Given the description of an element on the screen output the (x, y) to click on. 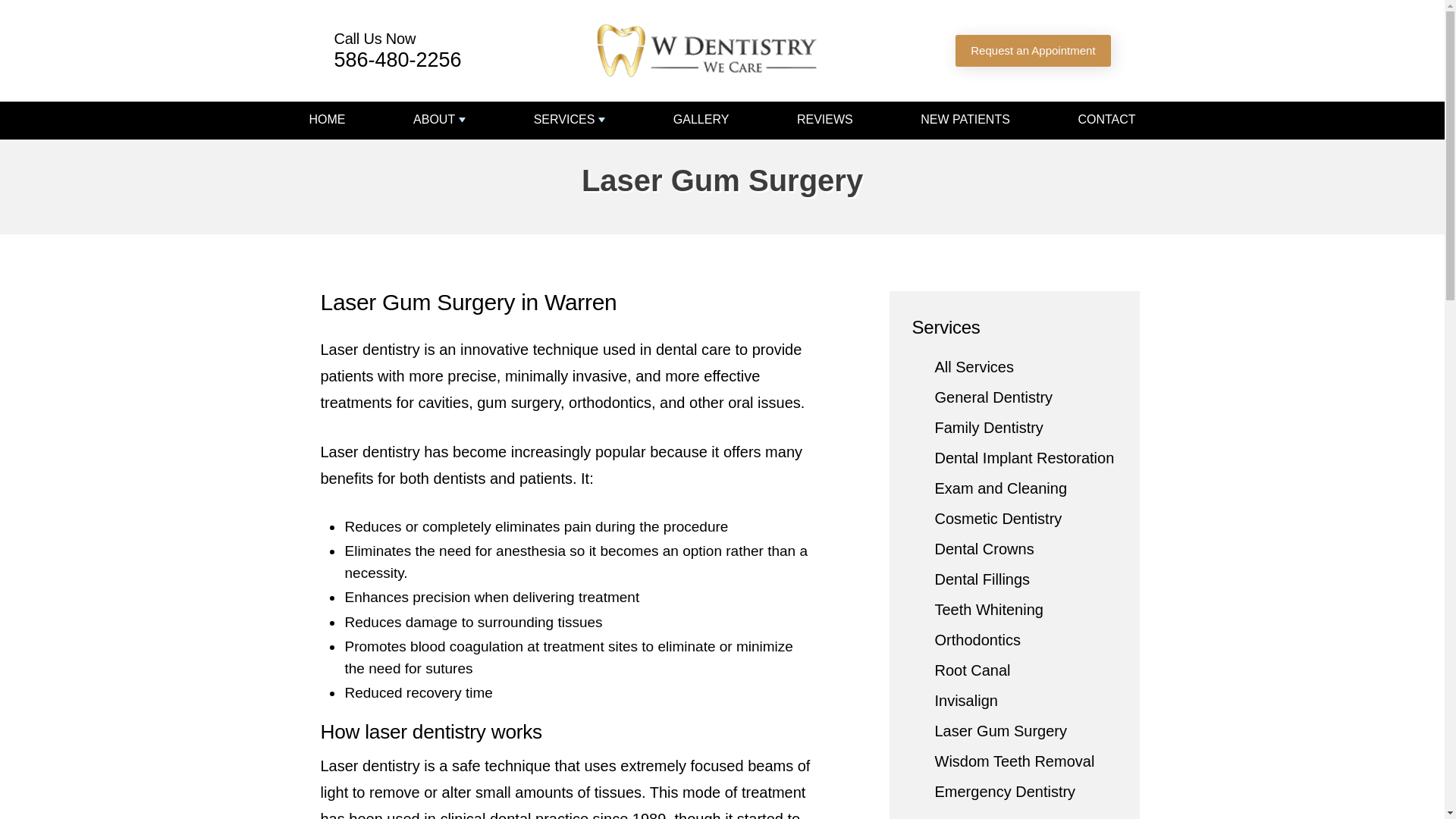
General Dentistry (993, 396)
HOME (327, 119)
NEW PATIENTS (965, 119)
Dental Crowns (983, 547)
SERVICES (569, 119)
GALLERY (700, 119)
All Services (973, 365)
Exam and Cleaning (1000, 487)
Cosmetic Dentistry (997, 517)
Dental Implant Restoration (1023, 457)
REVIEWS (824, 119)
ABOUT (439, 119)
586-480-2256 (397, 59)
CONTACT (1106, 119)
Dental Fillings (981, 578)
